Given the description of an element on the screen output the (x, y) to click on. 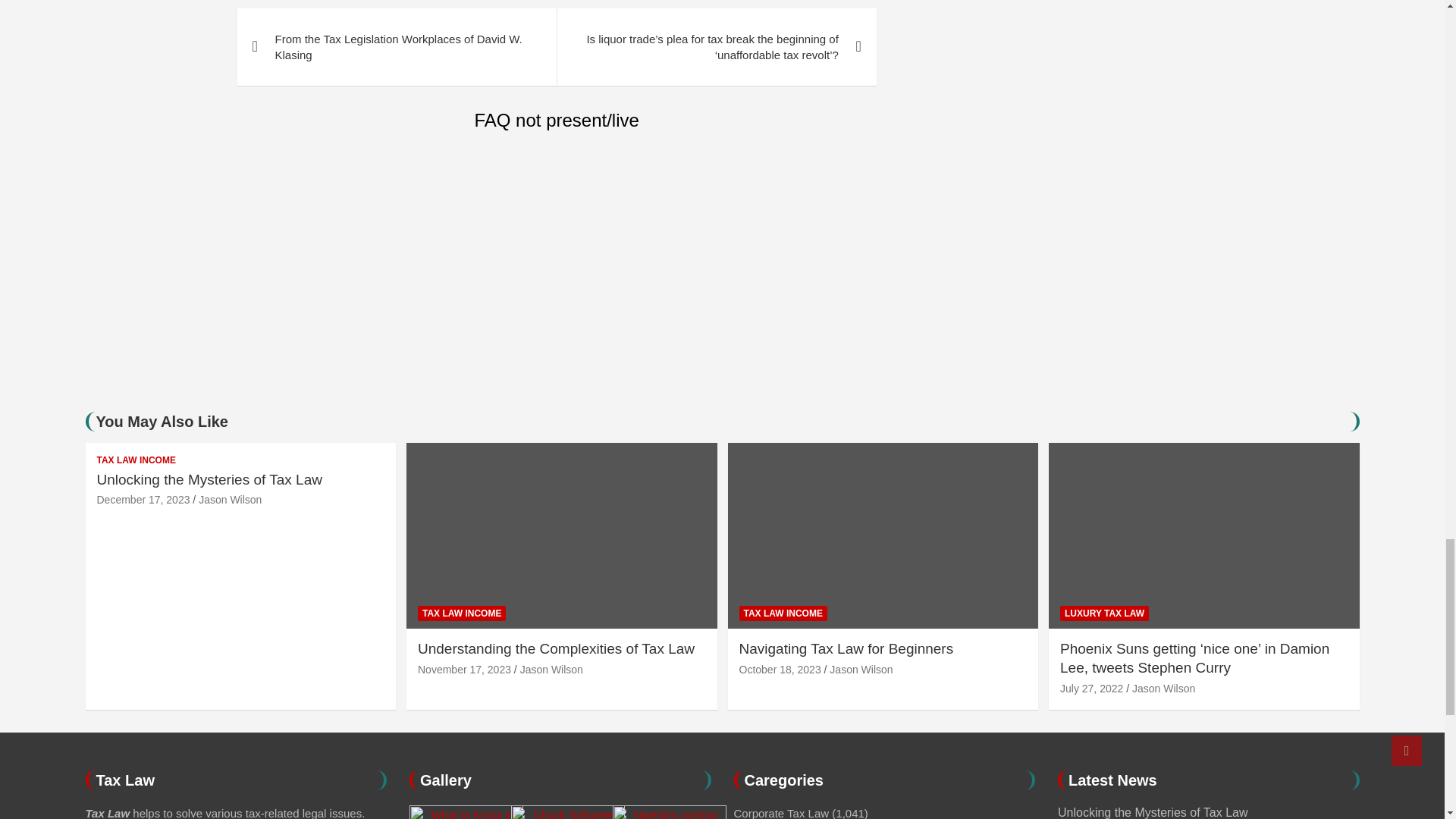
Unlocking the Mysteries of Tax Law (143, 499)
Navigating Tax Law for Beginners (779, 669)
From the Tax Legislation Workplaces of David W. Klasing (395, 46)
Understanding the Complexities of Tax Law (464, 669)
